Given the description of an element on the screen output the (x, y) to click on. 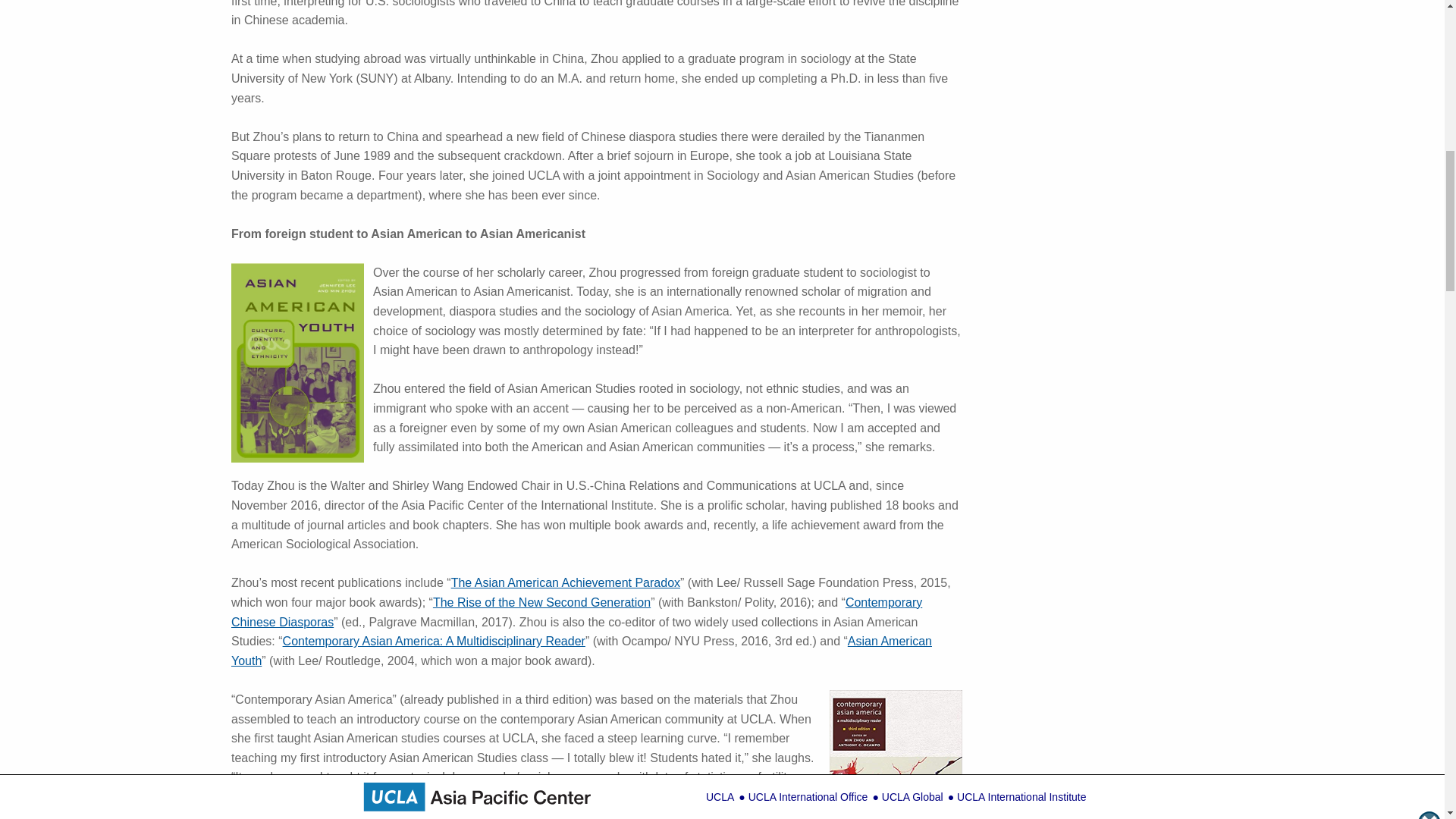
Asian American Youth (581, 650)
Contemporary Chinese Diasporas (576, 612)
The Asian American Achievement Paradox (565, 582)
Contemporary Asian America: A Multidisciplinary Reader (433, 640)
The Rise of the New Second Generation (541, 602)
